Given the description of an element on the screen output the (x, y) to click on. 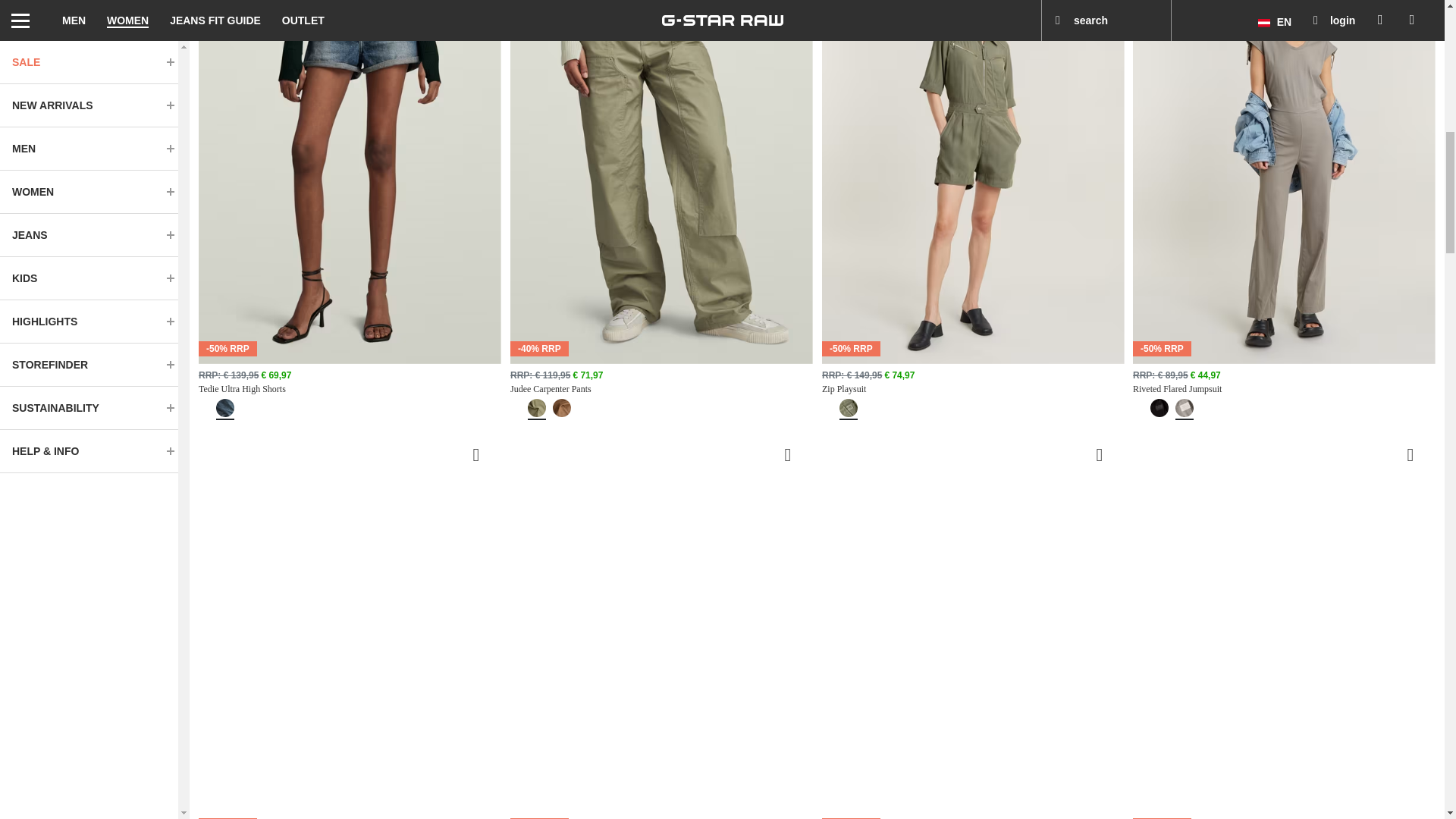
Riveted Flared Jumpsuit (1283, 389)
Judee Carpenter Pants (661, 389)
Tedie Ultra High Shorts (349, 389)
Zip Playsuit (973, 389)
